Given the description of an element on the screen output the (x, y) to click on. 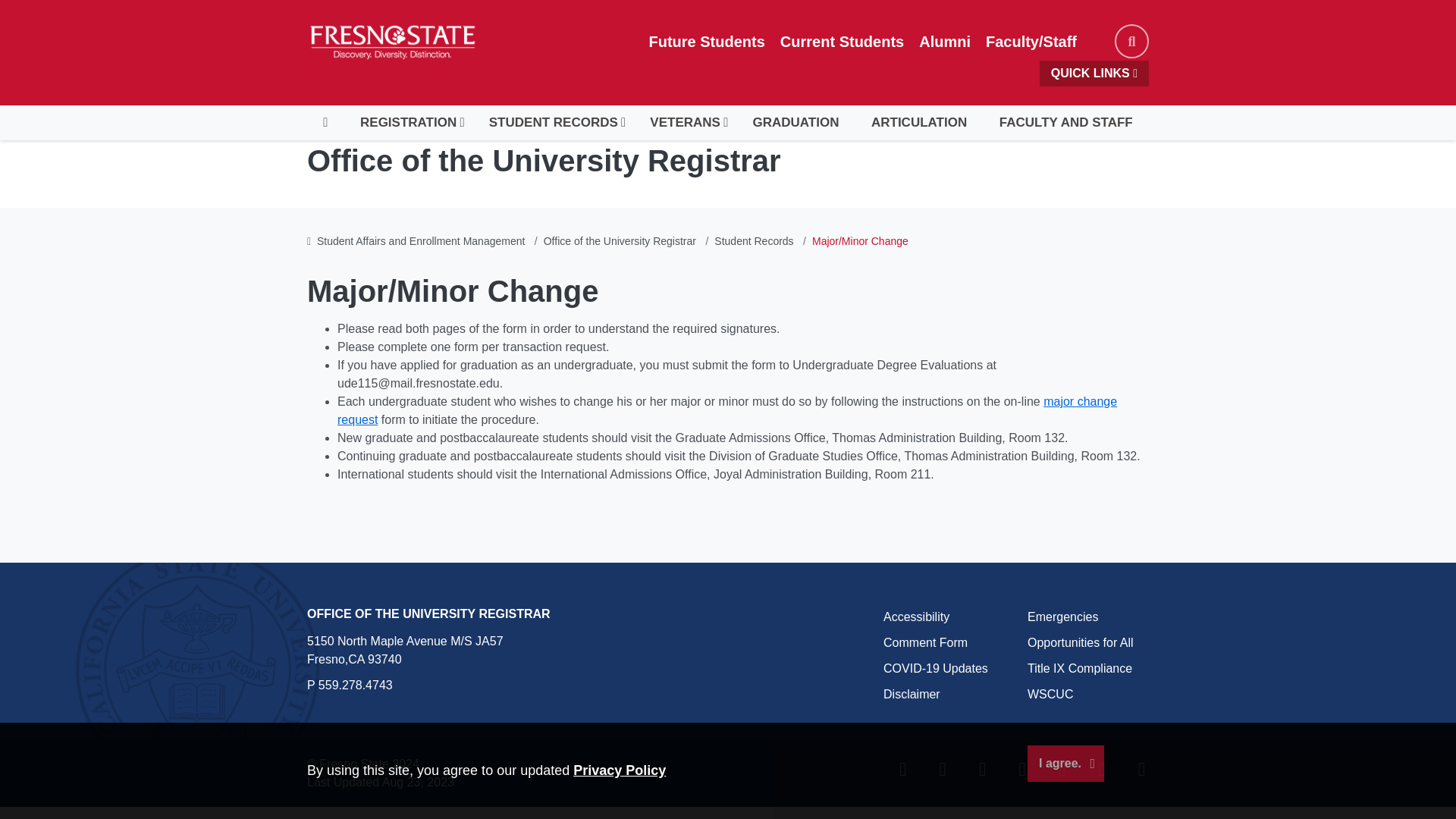
STUDENT RECORDS (553, 122)
HOME (325, 122)
Privacy Policy (619, 770)
QUICK LINKS (1093, 73)
Current Students (842, 41)
Future Students (707, 41)
REGISTRATION (408, 122)
I agree. (1065, 763)
Search (1131, 41)
